Given the description of an element on the screen output the (x, y) to click on. 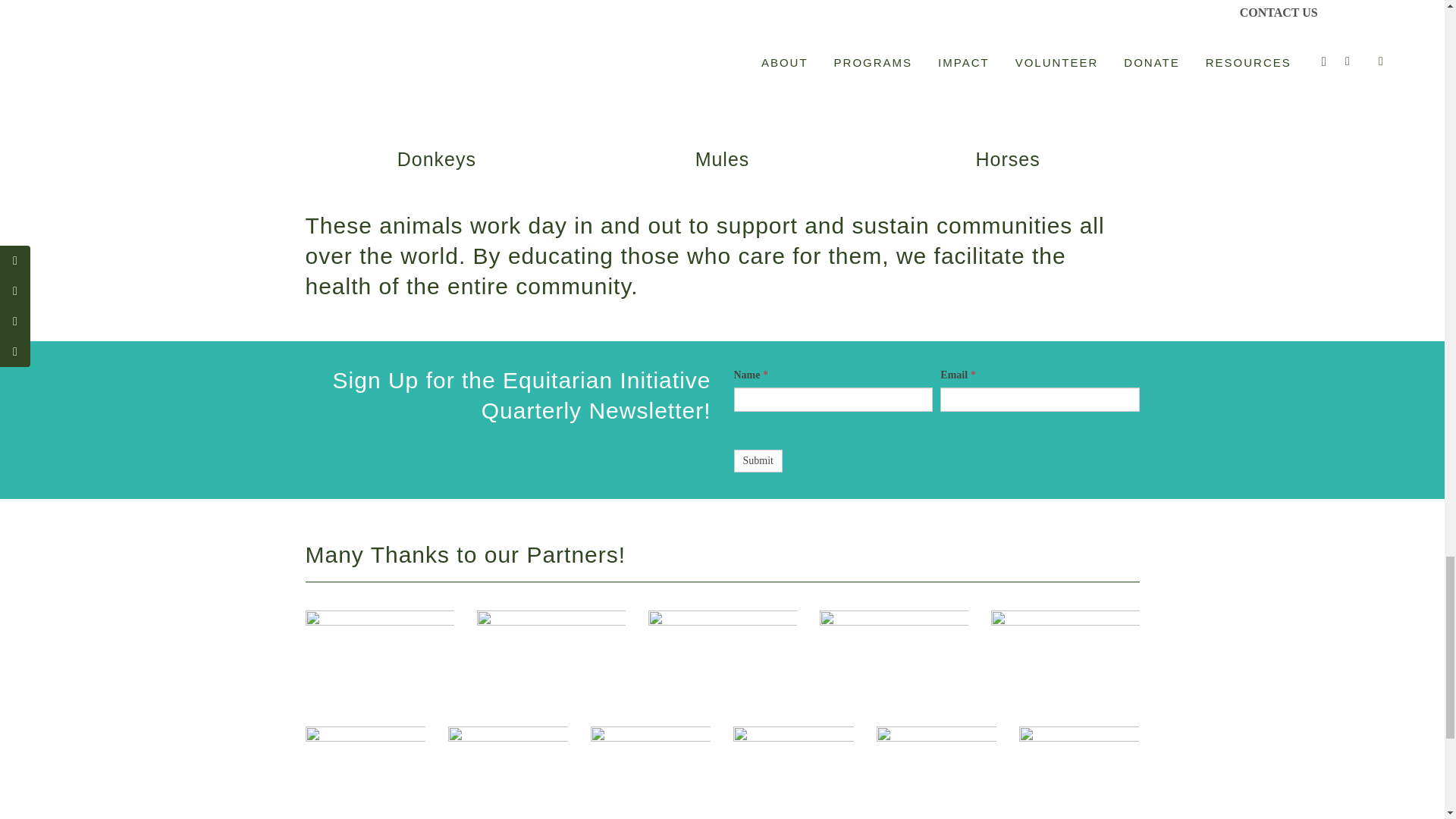
7b533431-85e1-4659-b8d9-9d4bbb2ed6e0 (507, 772)
Submit (758, 460)
a40dede1-07c8-49fa-9500-caca749f6f12 (893, 637)
SPANA Animals logo 1d3 Stacked (650, 772)
ZoologyLogowithtagline2015-copy-2 (550, 646)
worldhorsewelfare (364, 754)
donkey sanctuary (378, 651)
